Given the description of an element on the screen output the (x, y) to click on. 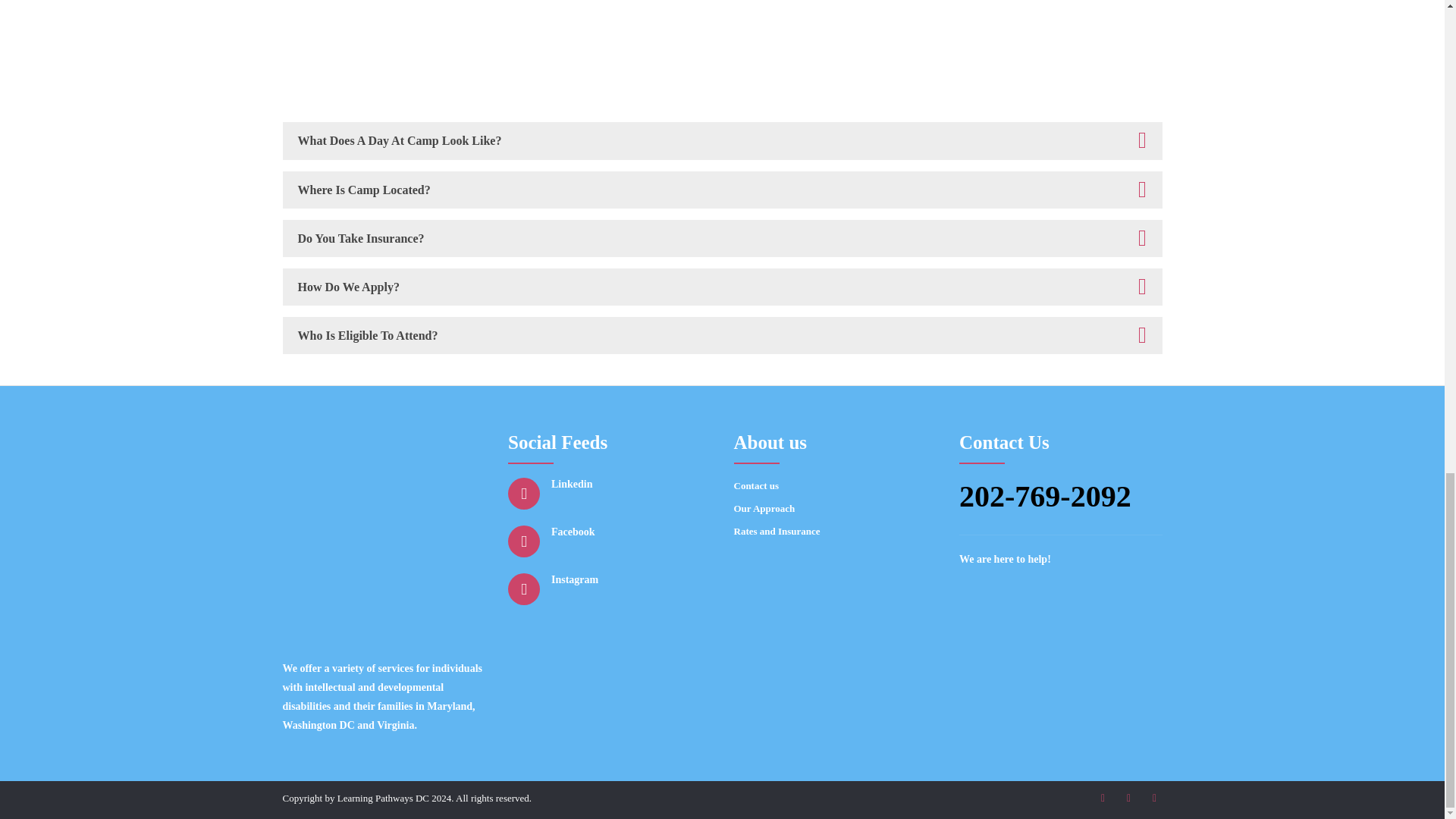
Contact us (825, 485)
Rates and Insurance (835, 531)
Our Approach (825, 508)
